Given the description of an element on the screen output the (x, y) to click on. 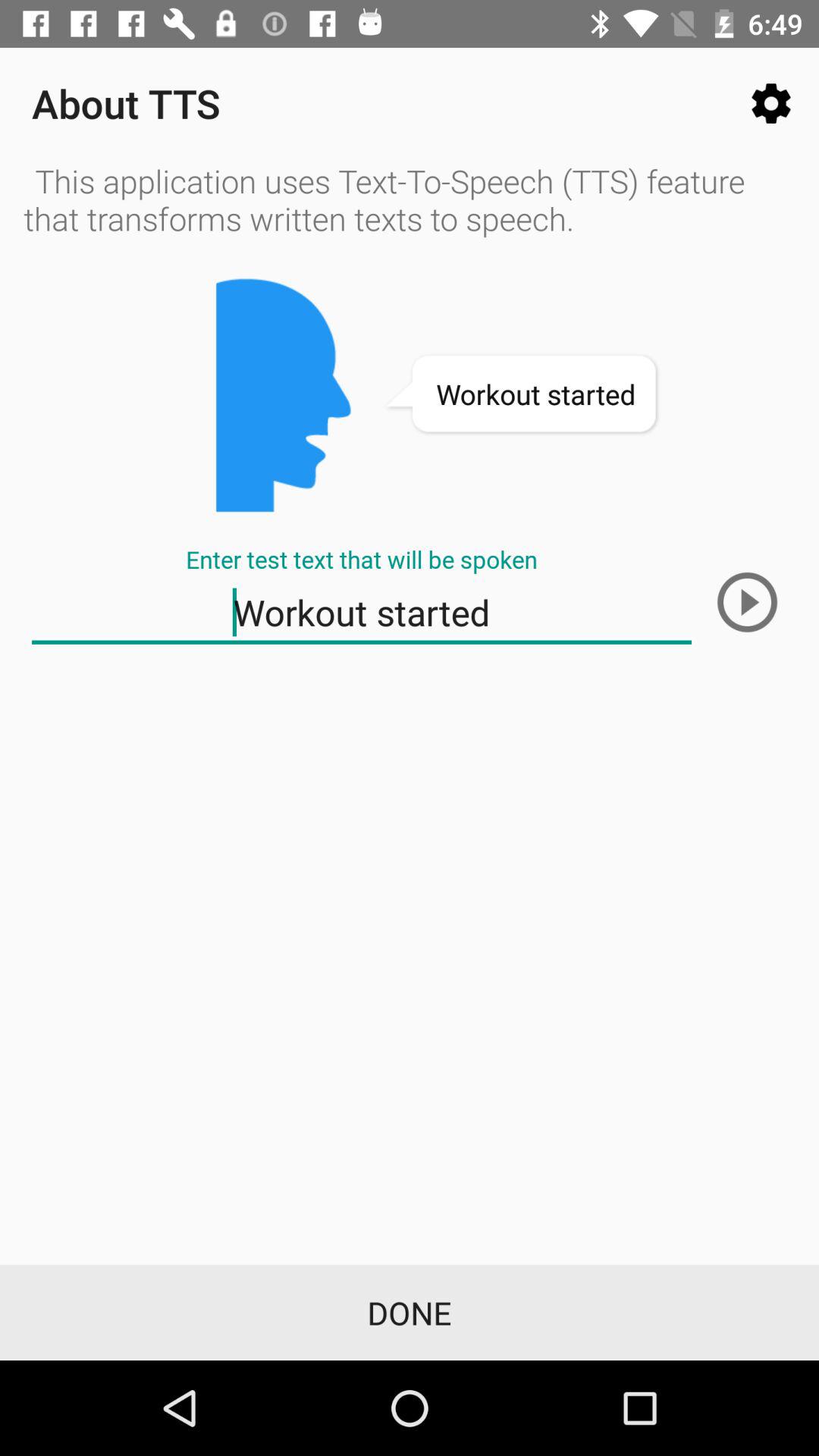
listen to text (747, 602)
